Given the description of an element on the screen output the (x, y) to click on. 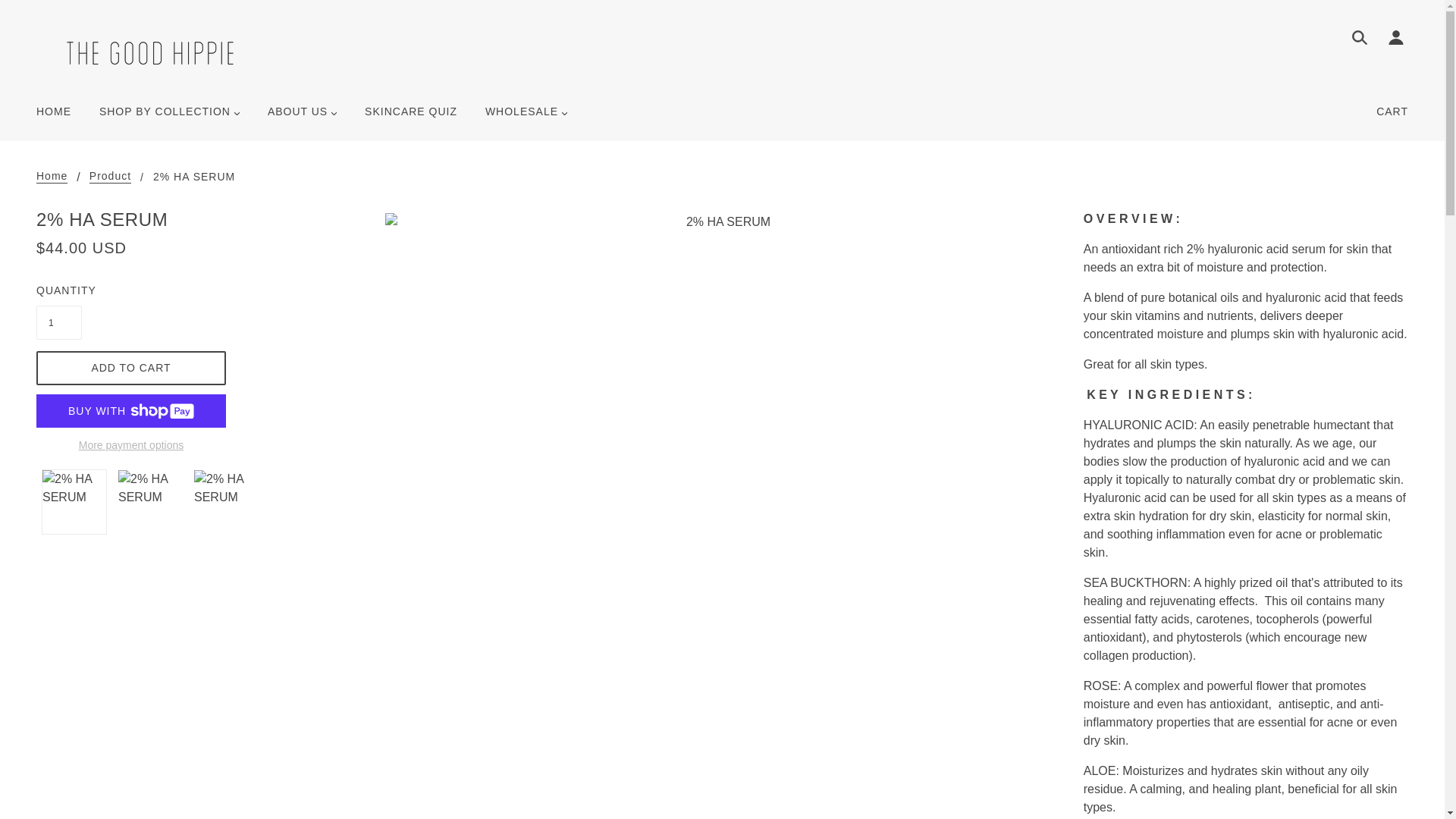
HOME (53, 117)
SHOP BY COLLECTION (169, 117)
1 (58, 322)
The Good Hippie (149, 51)
